Given the description of an element on the screen output the (x, y) to click on. 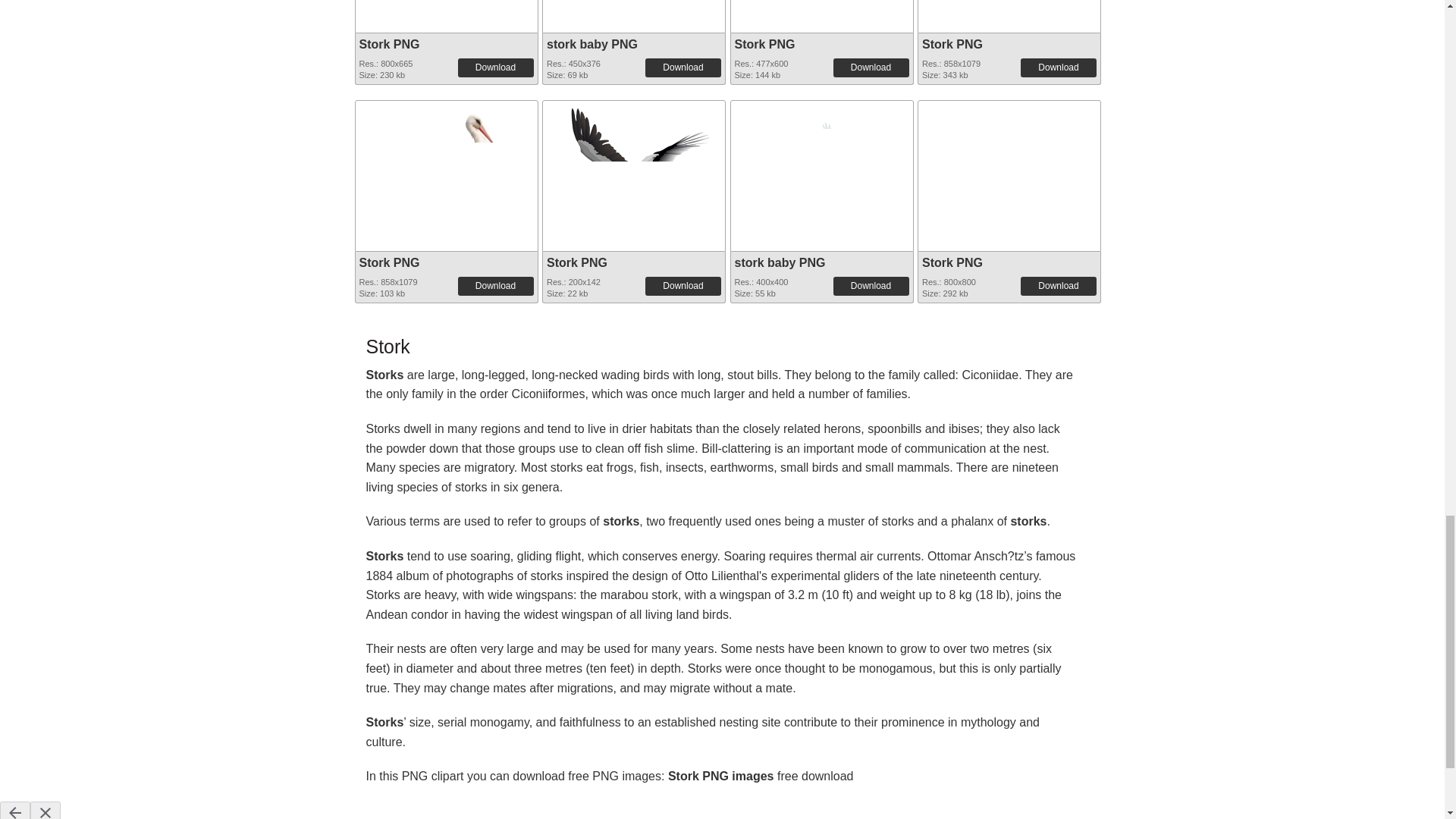
Stork PNG (763, 43)
Stork PNG (389, 43)
Stork PNG (821, 13)
Stork PNG (951, 43)
Stork PNG (1008, 13)
stork baby PNG (592, 43)
Stork PNG (445, 7)
Download (682, 67)
Download (496, 67)
Download (1058, 67)
